Given the description of an element on the screen output the (x, y) to click on. 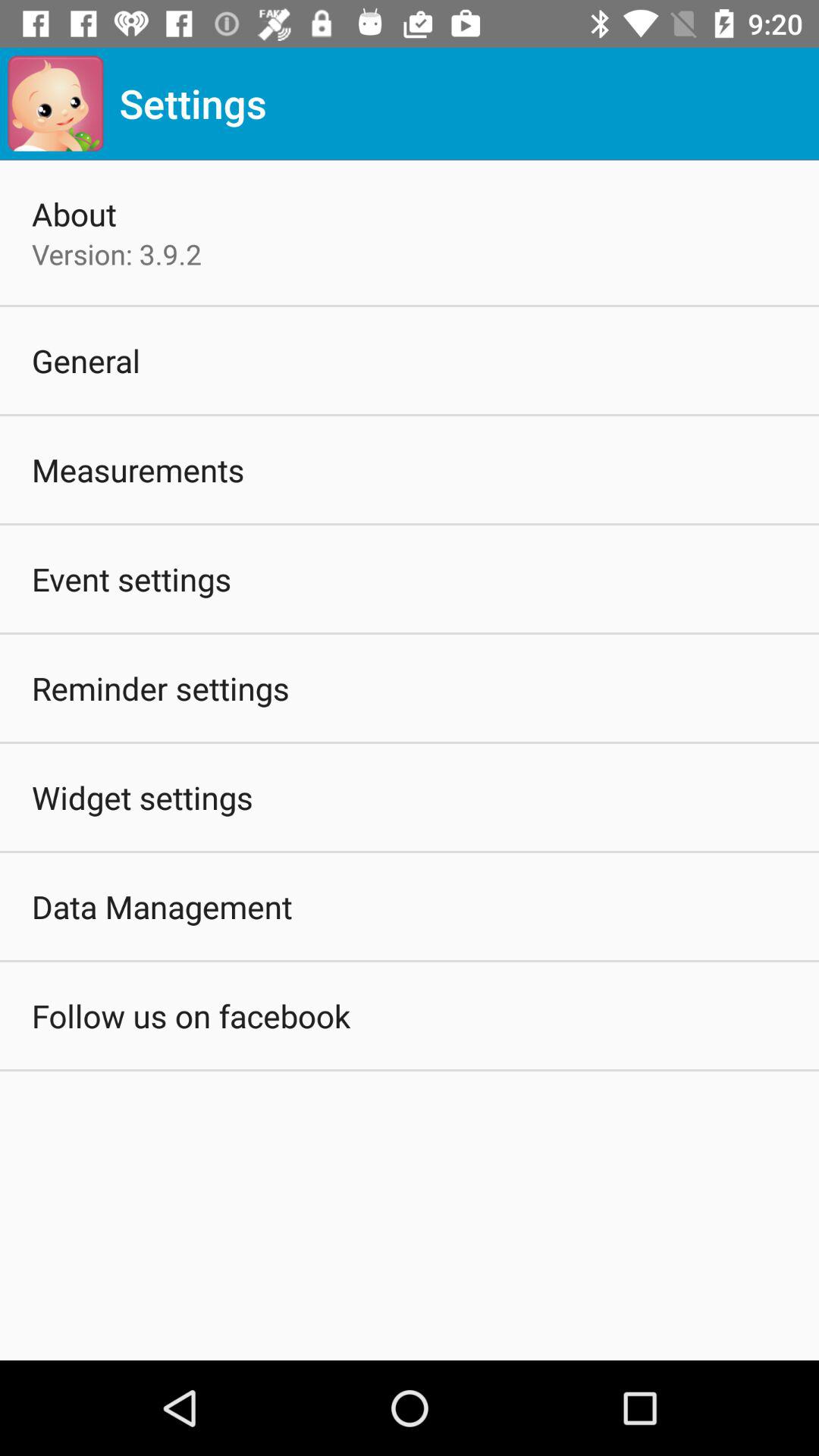
turn on the follow us on item (190, 1015)
